Given the description of an element on the screen output the (x, y) to click on. 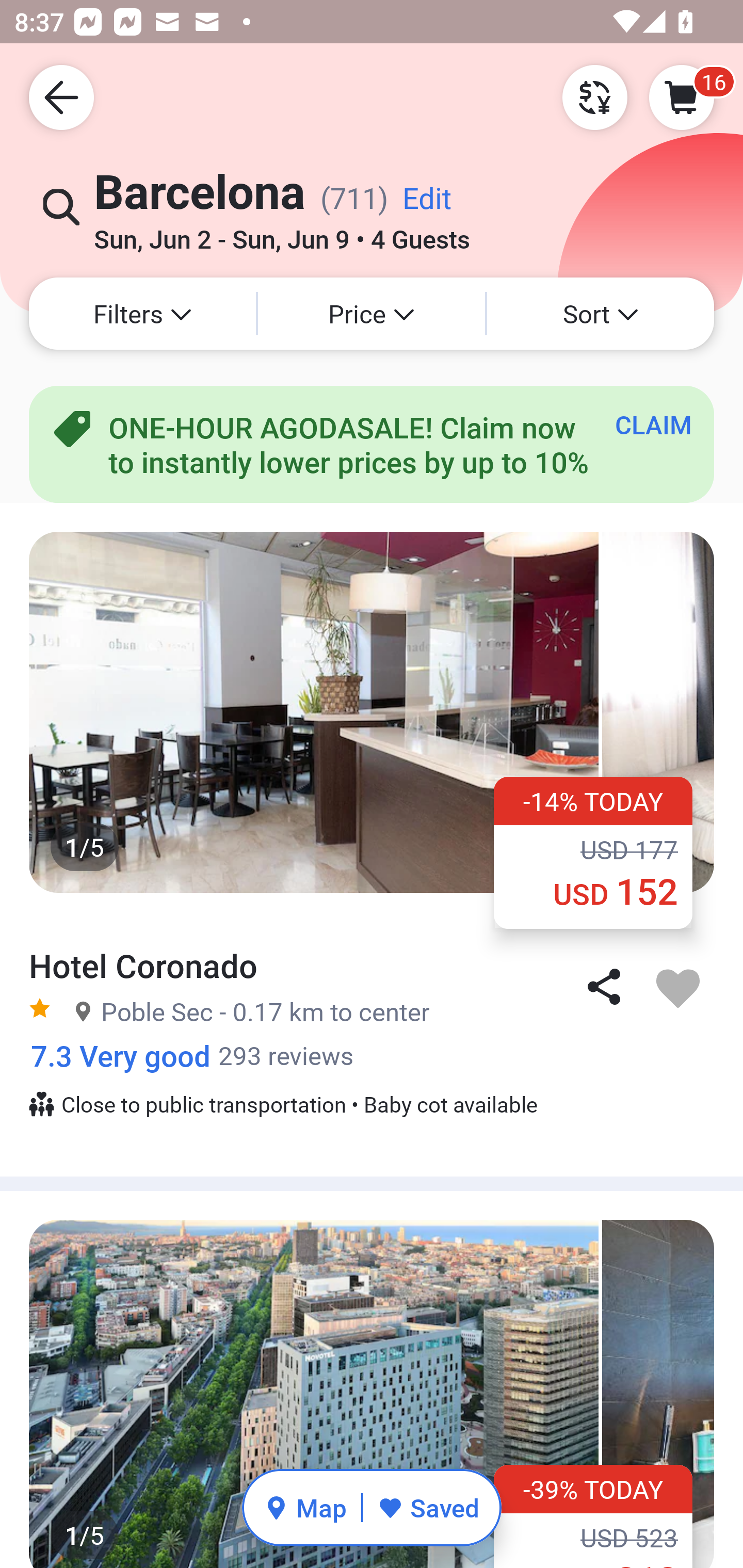
Filters (141, 313)
Price (371, 313)
Sort (600, 313)
CLAIM (653, 424)
1/5 (371, 711)
-14% TODAY ‪USD 177 ‪USD 152 (593, 852)
1/5 (371, 1393)
Map (305, 1507)
Saved (428, 1507)
-39% TODAY ‪USD 523 ‪USD 318 (593, 1516)
